Given the description of an element on the screen output the (x, y) to click on. 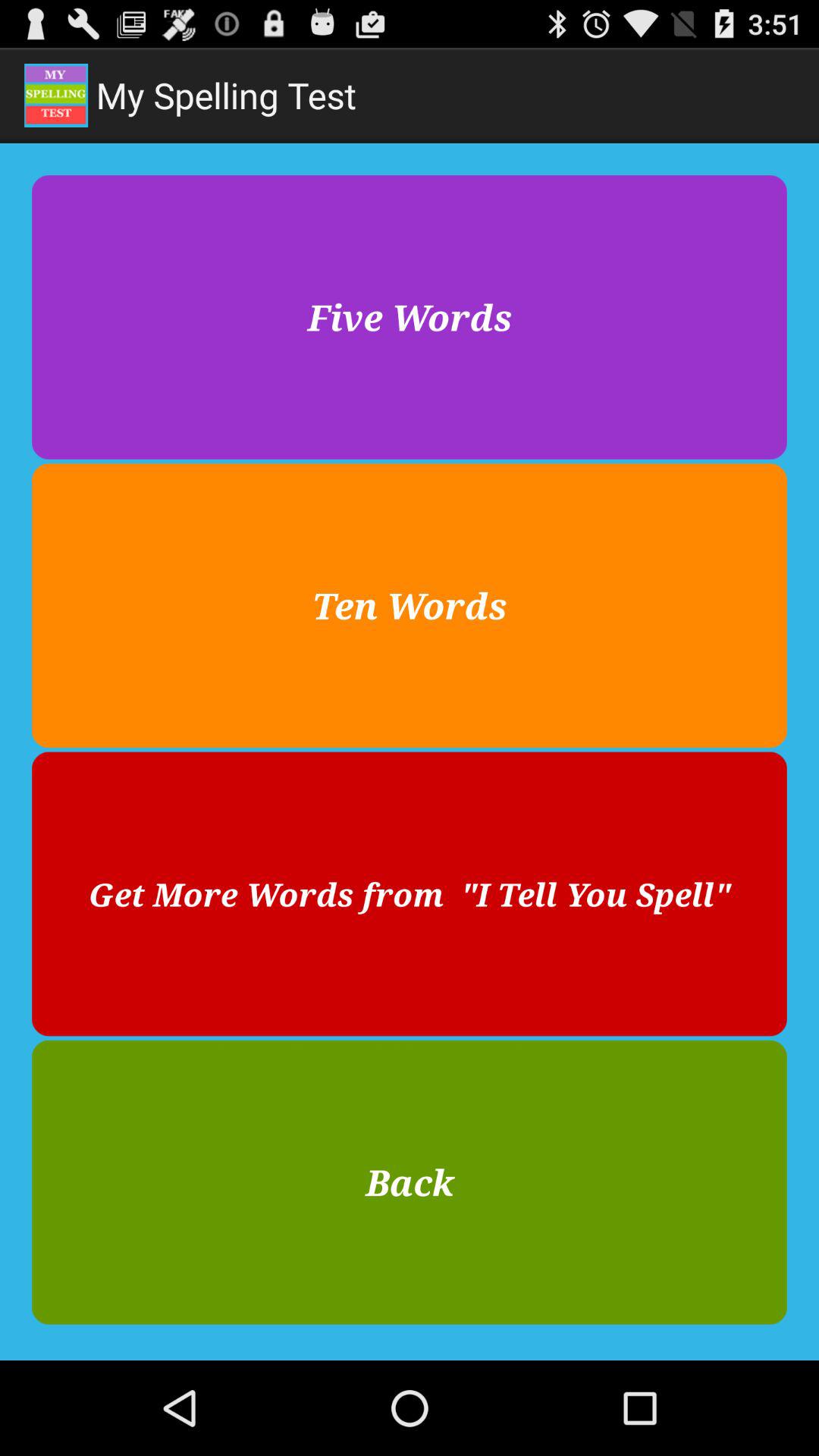
flip until the five words button (409, 317)
